Given the description of an element on the screen output the (x, y) to click on. 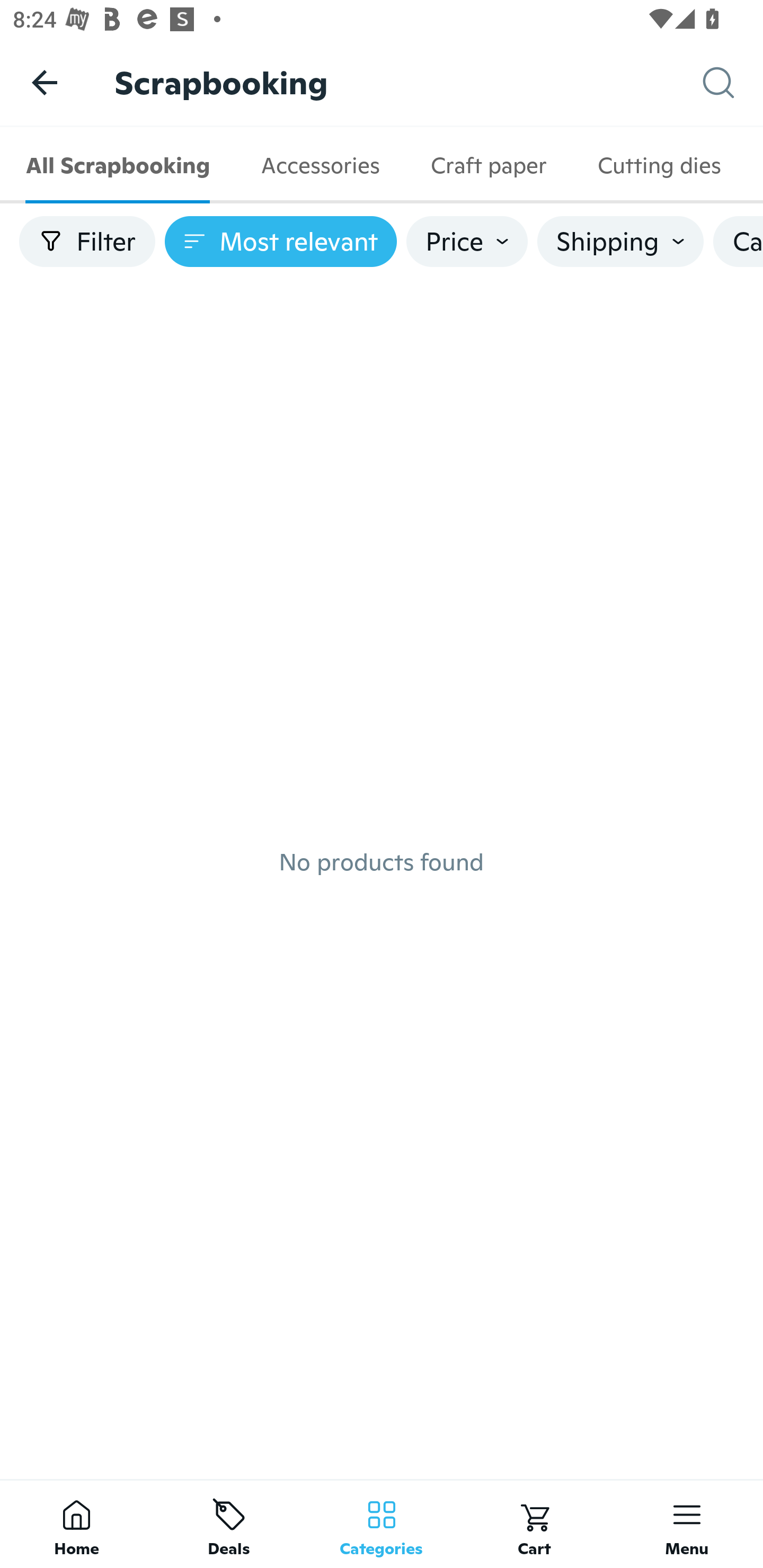
Navigate up (44, 82)
Search (732, 82)
All Scrapbooking (117, 165)
Accessories (320, 165)
Craft paper (488, 165)
Cutting dies (658, 165)
Filter (86, 241)
Most relevant (280, 241)
Price (466, 241)
Shipping (620, 241)
Home (76, 1523)
Deals (228, 1523)
Categories (381, 1523)
Cart (533, 1523)
Menu (686, 1523)
